Given the description of an element on the screen output the (x, y) to click on. 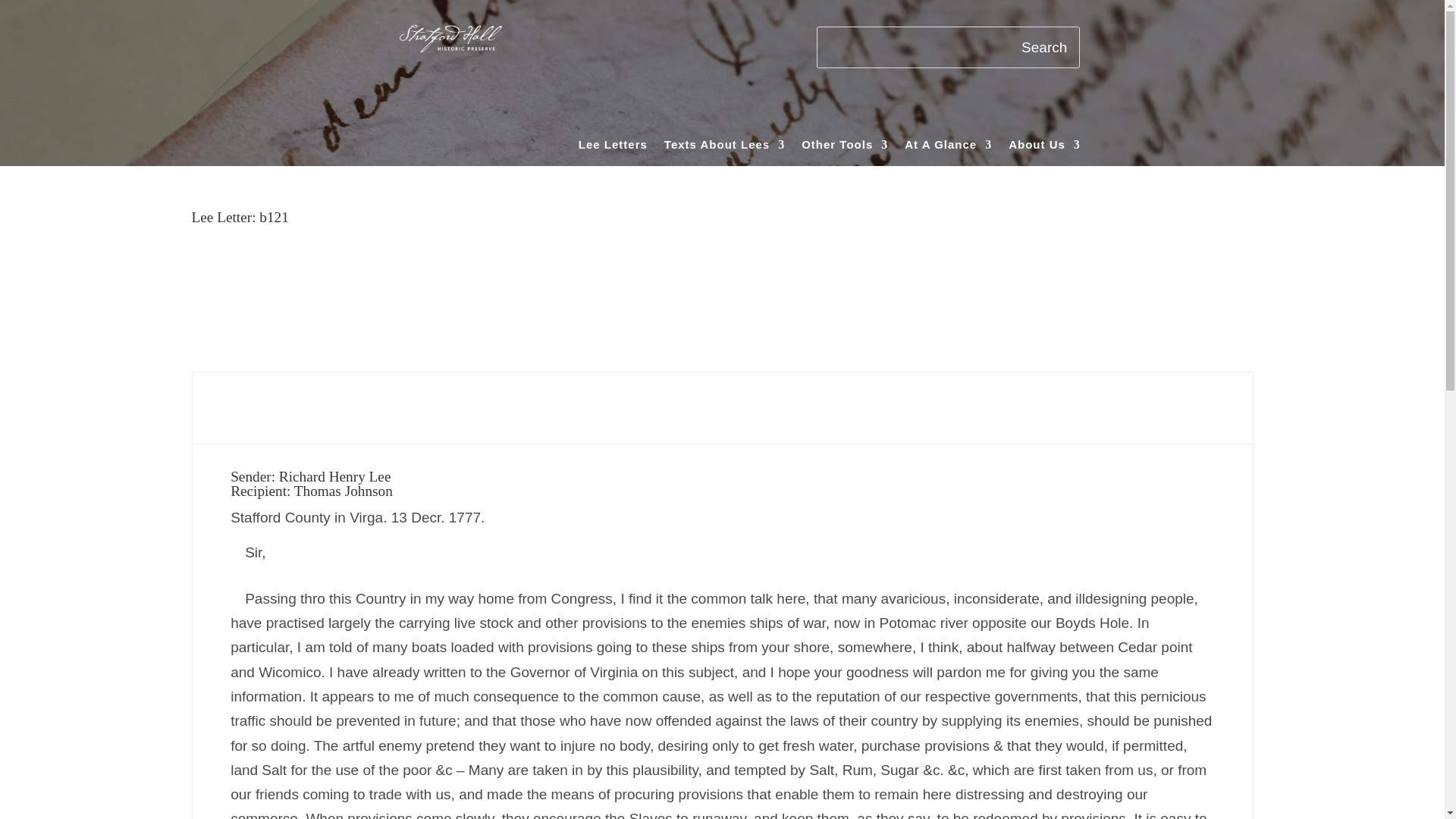
About Us (1044, 147)
Other Tools (845, 147)
At A Glance (947, 147)
Lee Letters (612, 147)
Search (1044, 47)
Search (1044, 47)
Texts About Lees (723, 147)
Search (1044, 47)
